Given the description of an element on the screen output the (x, y) to click on. 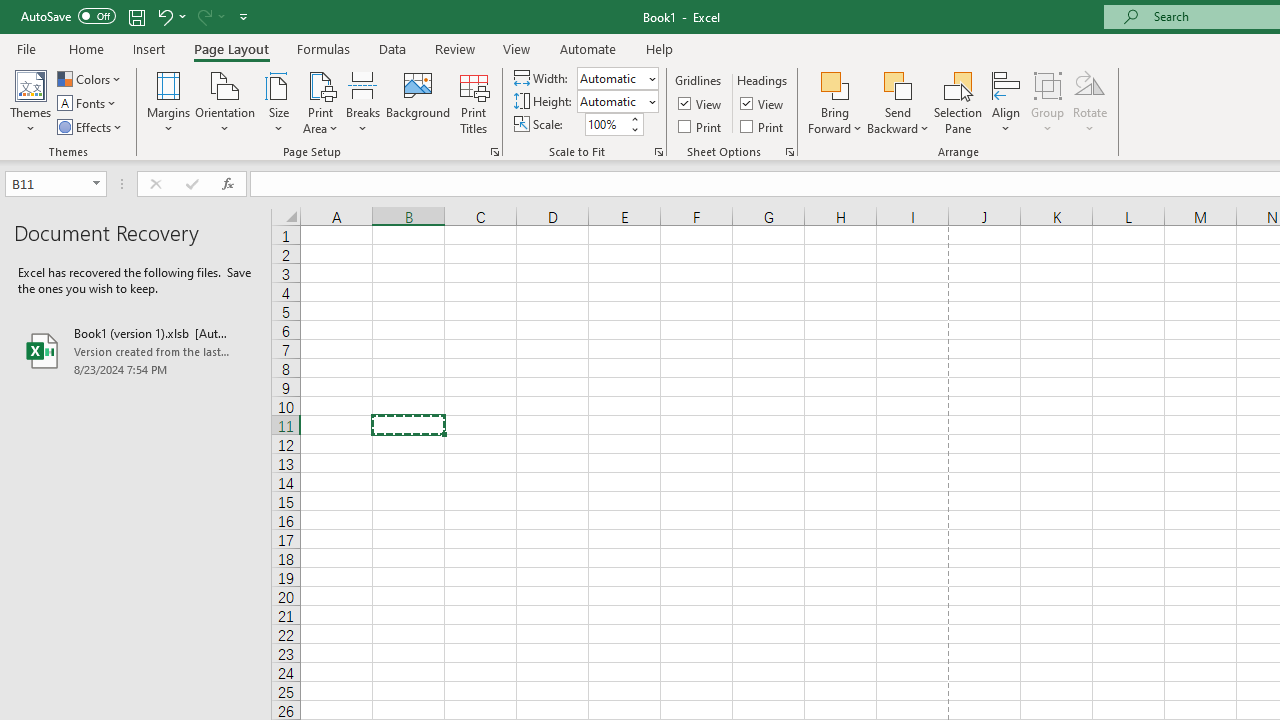
Book1 (version 1).xlsb  [AutoRecovered] (136, 350)
Print Area (320, 102)
Rotate (1089, 102)
Group (1047, 102)
Orientation (225, 102)
